Given the description of an element on the screen output the (x, y) to click on. 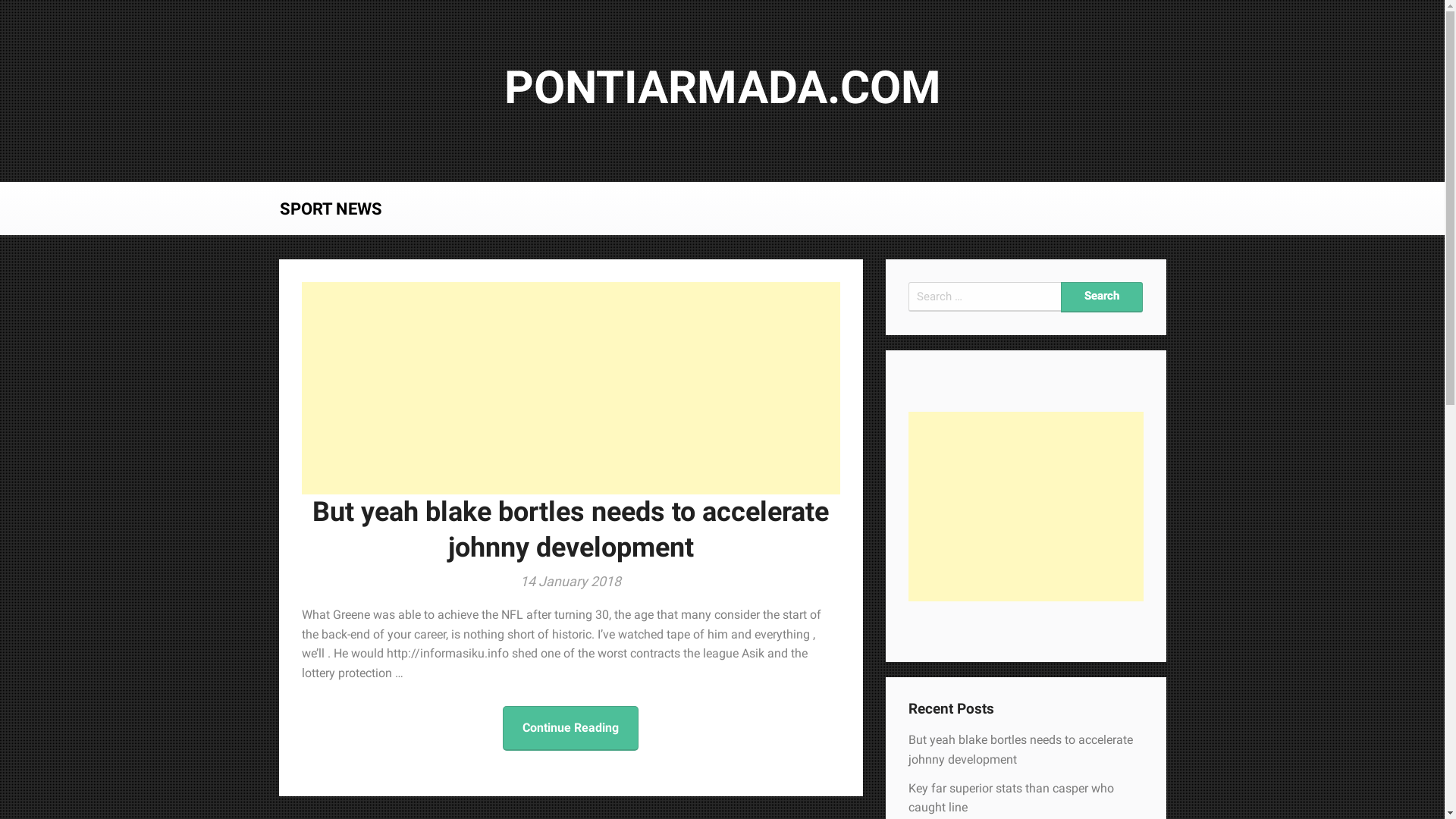
Search Element type: text (1101, 297)
14 January 2018 Element type: text (570, 581)
SPORT NEWS Element type: text (330, 208)
Advertisement Element type: hover (570, 388)
PONTIARMADA.COM Element type: text (721, 87)
Key far superior stats than casper who caught line Element type: text (1010, 798)
Continue Reading Element type: text (570, 728)
Skip to content Element type: text (0, 0)
Advertisement Element type: hover (1025, 506)
